Given the description of an element on the screen output the (x, y) to click on. 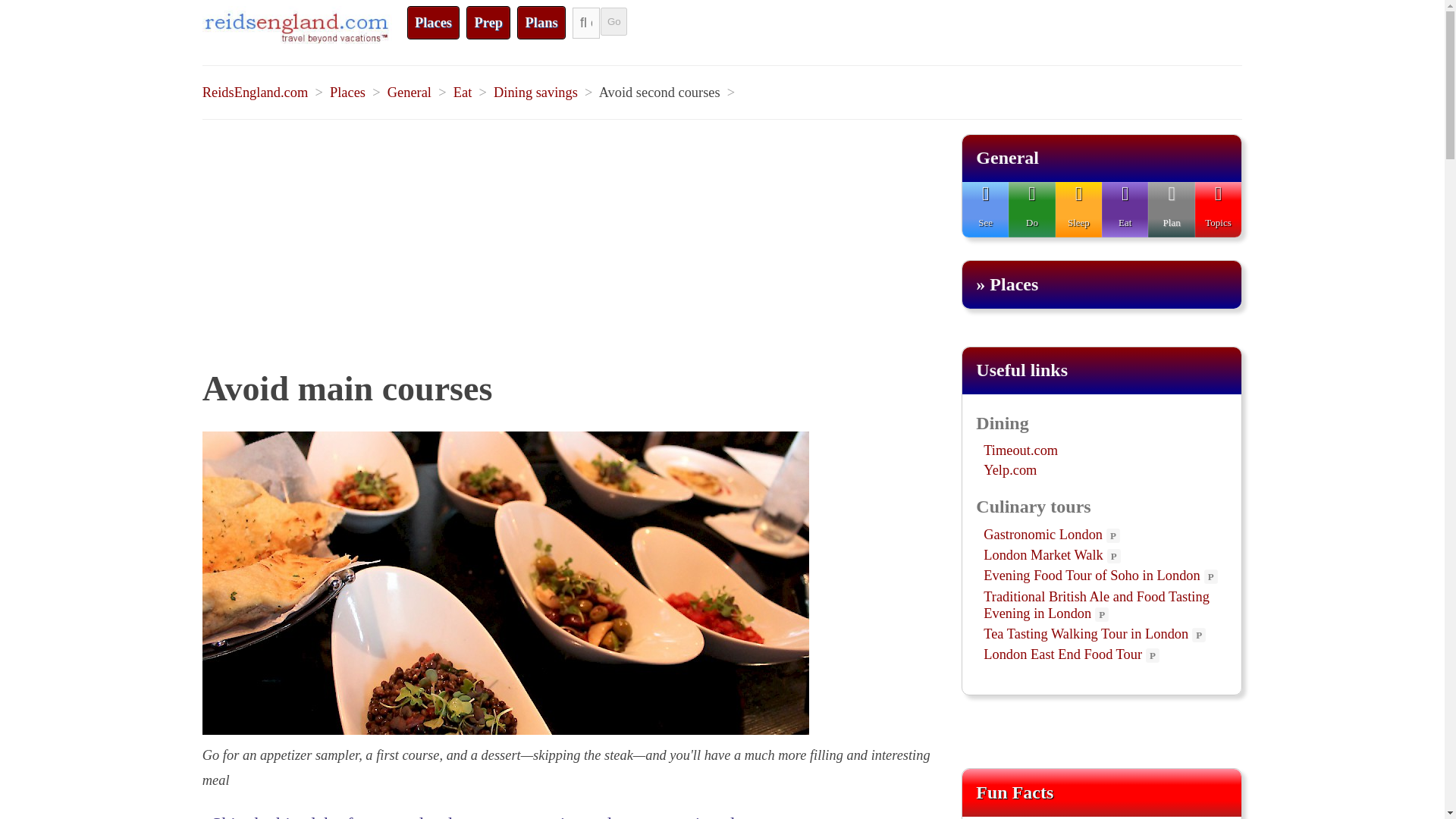
Places (433, 22)
Go (613, 21)
